Given the description of an element on the screen output the (x, y) to click on. 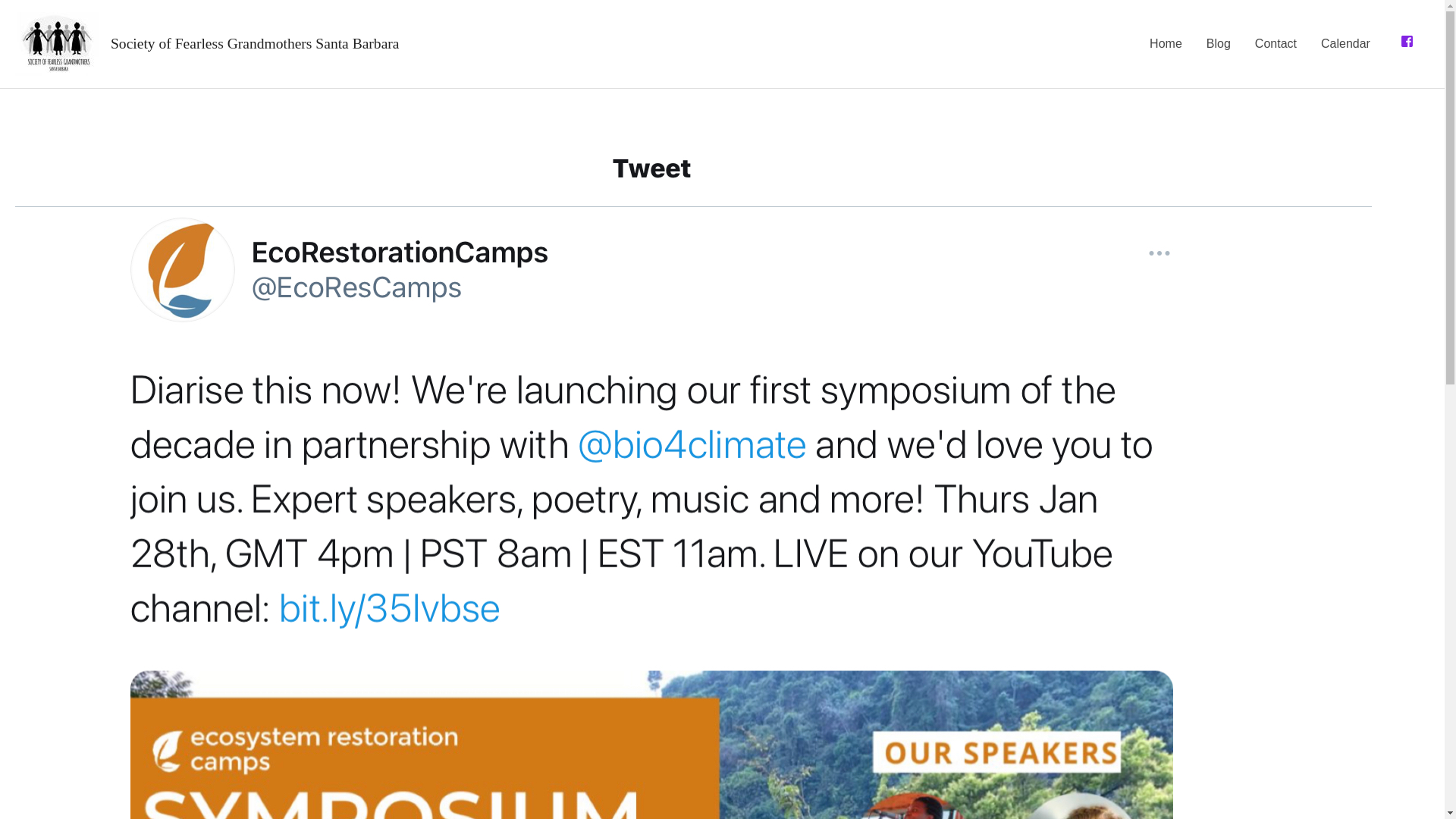
Home (1165, 43)
Contact (1275, 43)
Blog (1218, 43)
Society of Fearless Grandmothers Santa Barbara (254, 43)
Calendar (1344, 43)
